Given the description of an element on the screen output the (x, y) to click on. 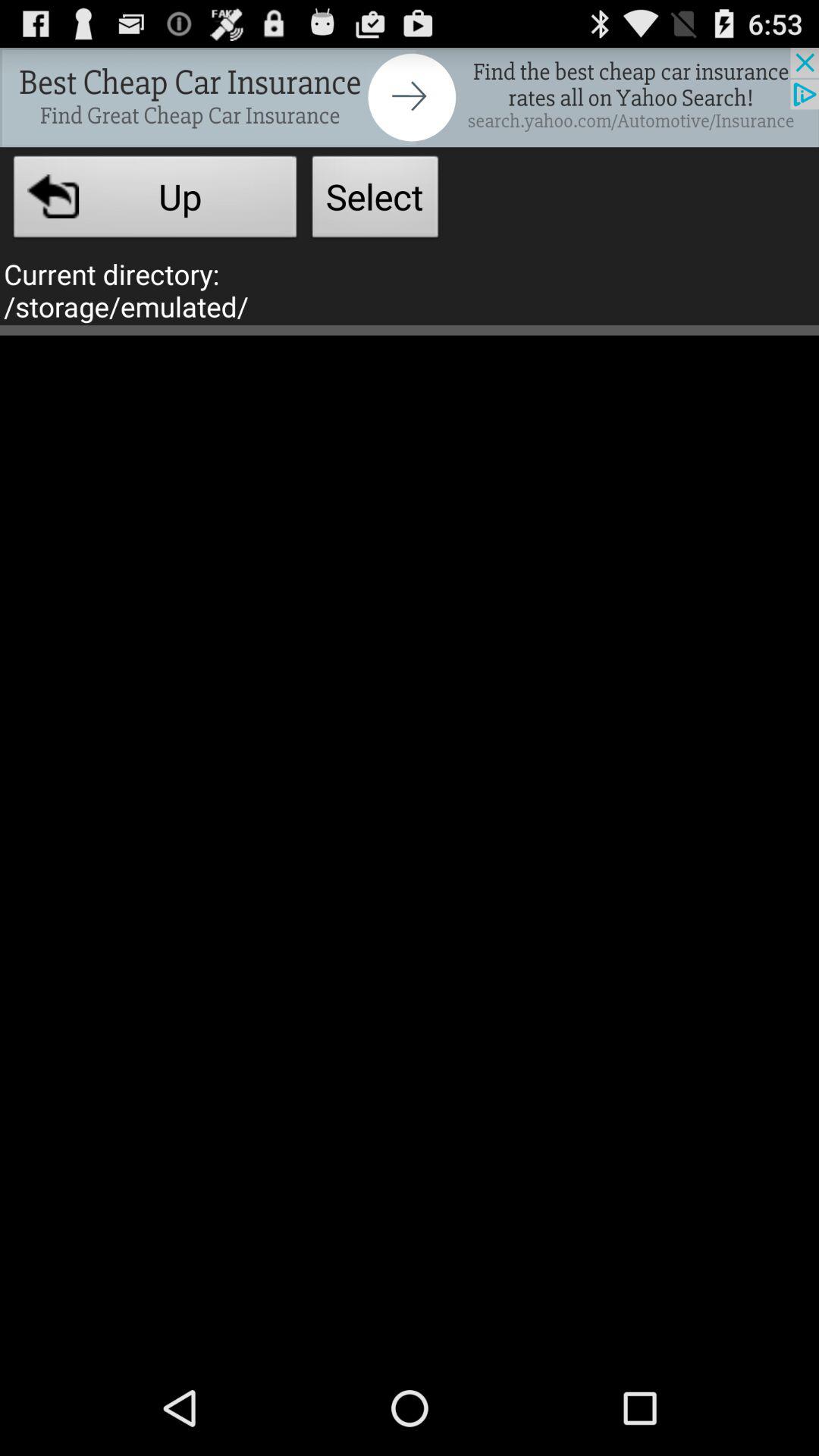
advertisement (409, 97)
